Given the description of an element on the screen output the (x, y) to click on. 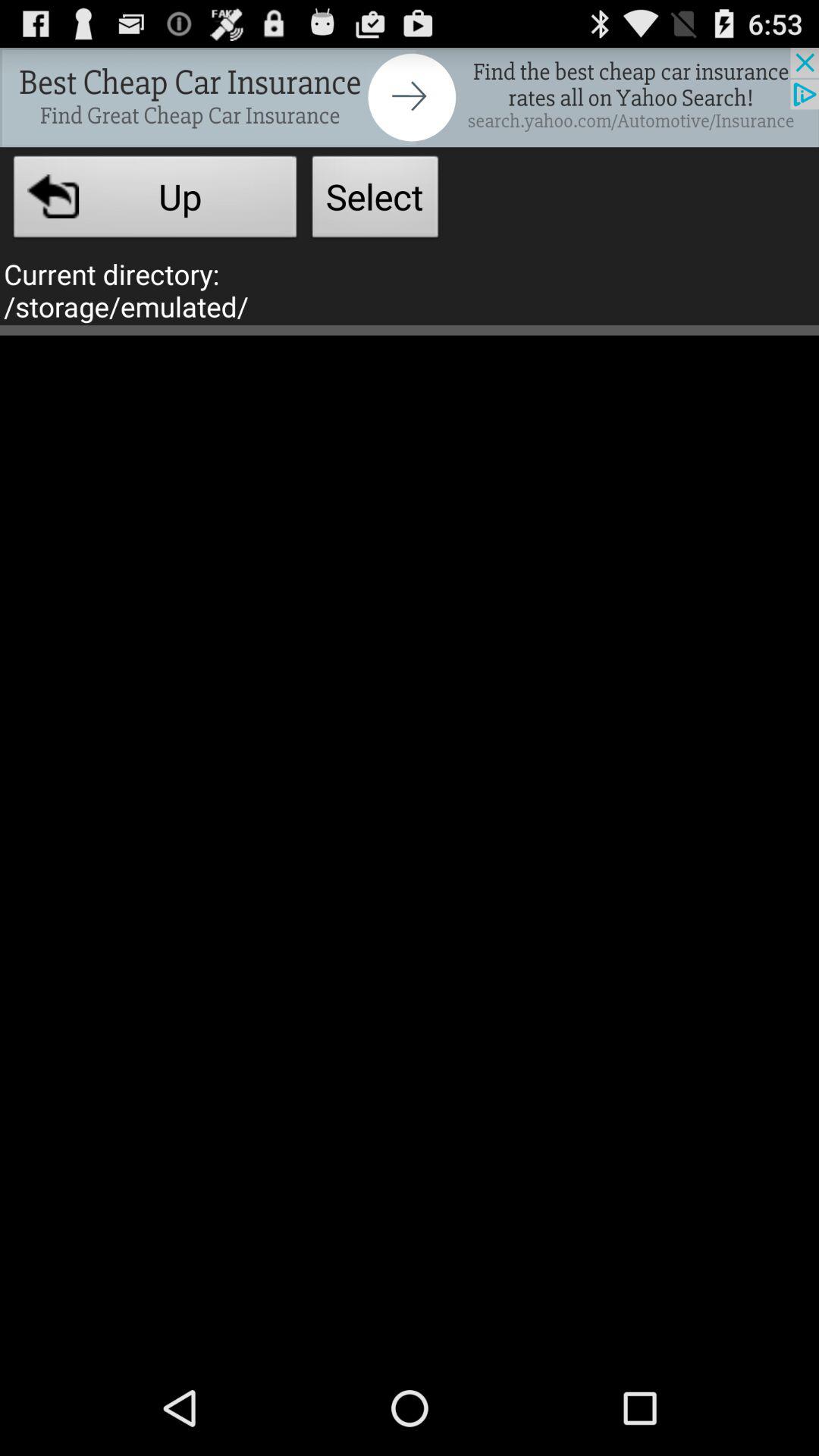
advertisement (409, 97)
